Given the description of an element on the screen output the (x, y) to click on. 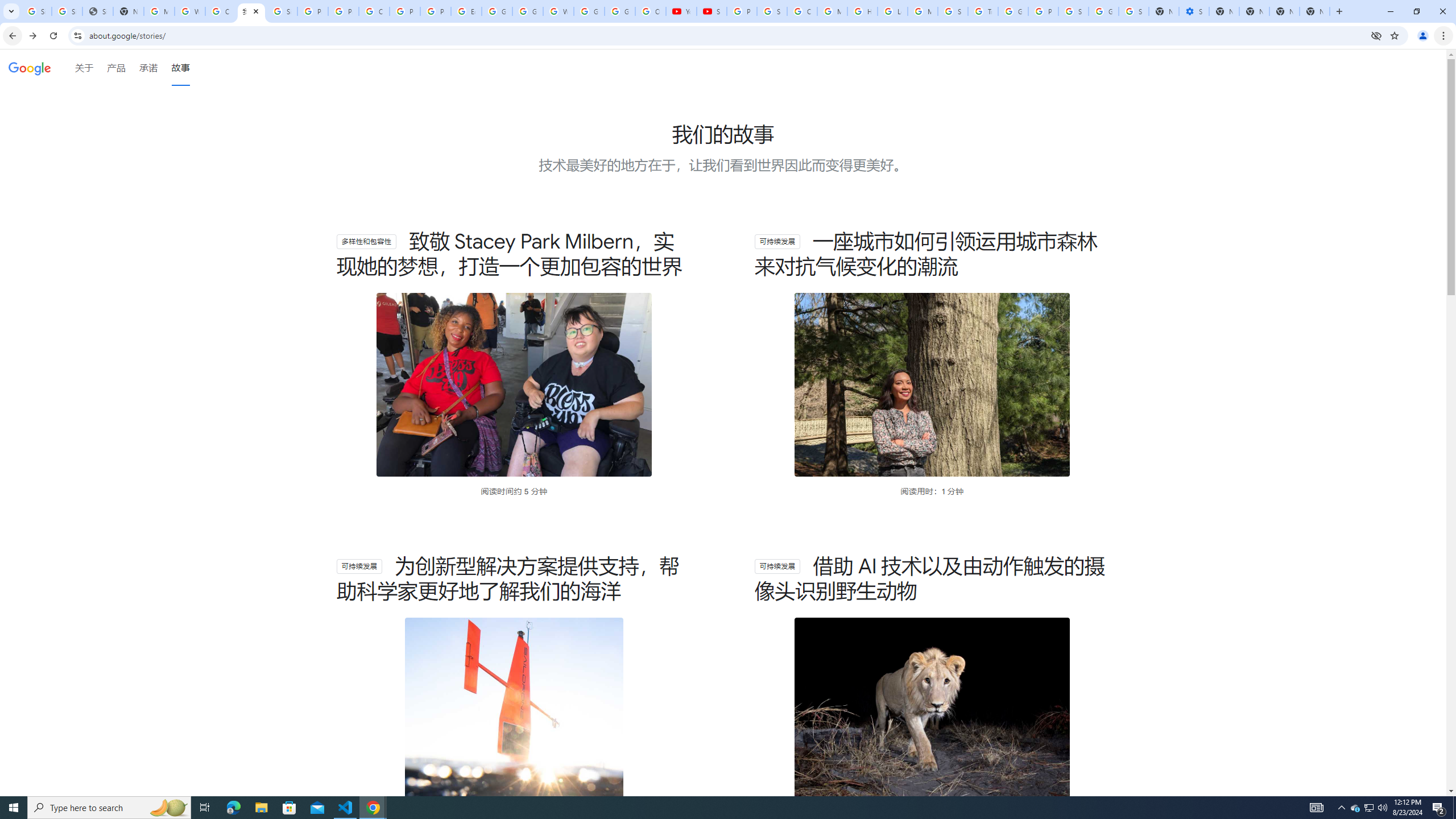
Sign in - Google Accounts (282, 11)
Address and search bar (726, 35)
Settings - Performance (1193, 11)
Google (29, 68)
Edit and view right-to-left text - Google Docs Editors Help (465, 11)
Sign in - Google Accounts (66, 11)
